Given the description of an element on the screen output the (x, y) to click on. 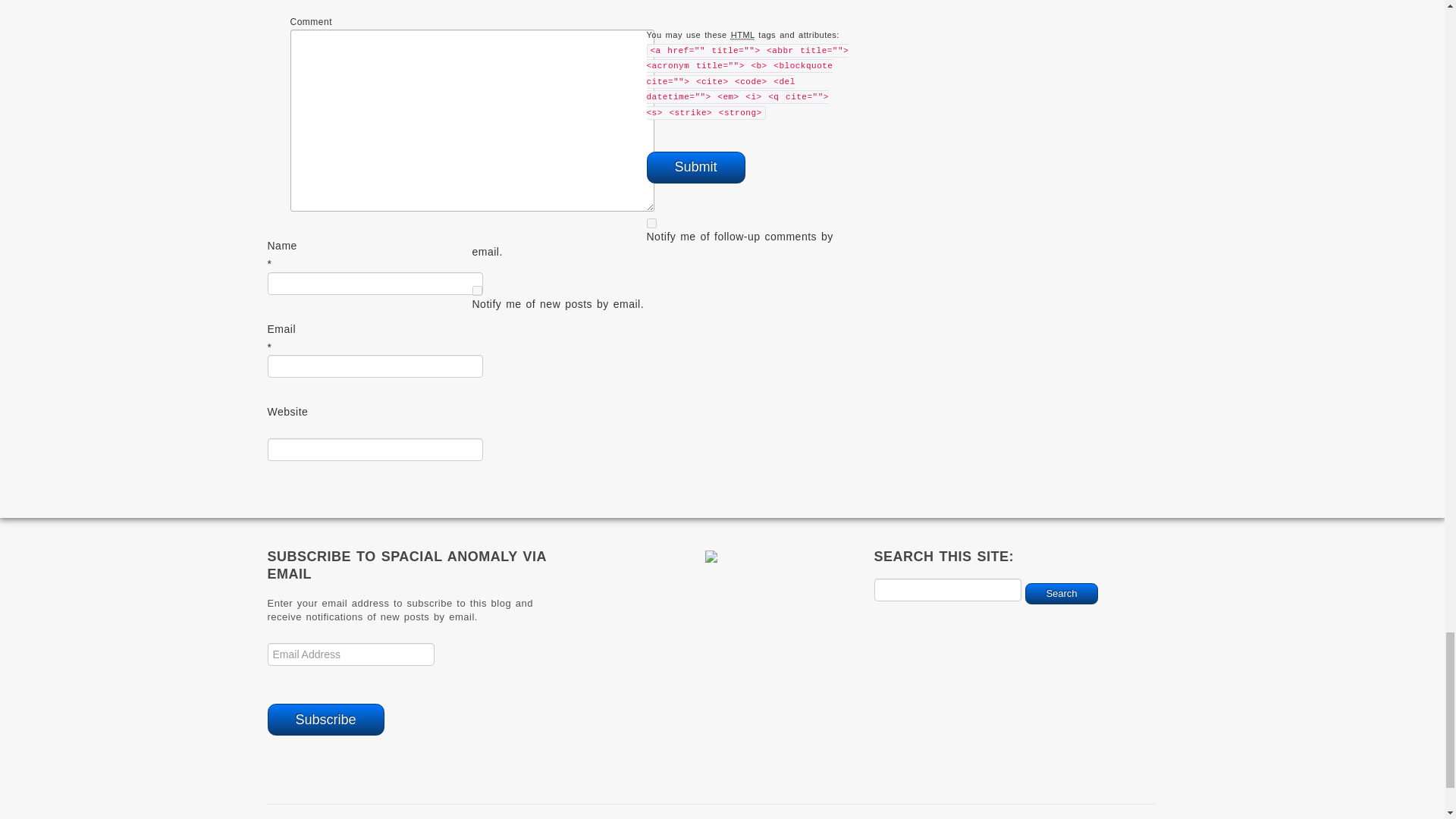
HyperText Markup Language (742, 35)
Submit (695, 167)
Search (1061, 593)
Subscribe (325, 719)
subscribe (651, 223)
subscribe (476, 290)
